Given the description of an element on the screen output the (x, y) to click on. 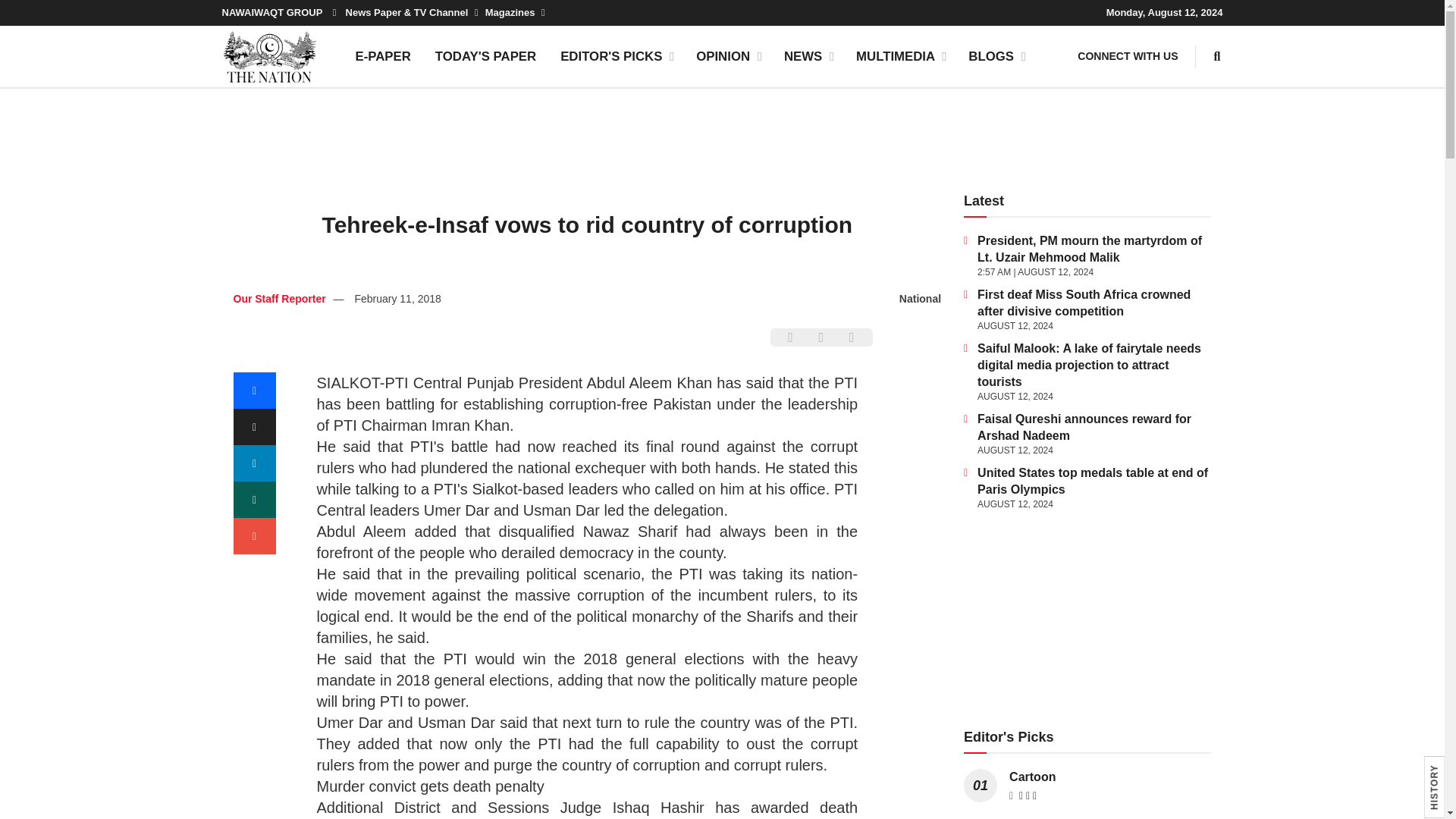
NEWS (807, 55)
E-PAPER (382, 55)
EDITOR'S PICKS (616, 55)
BLOGS (995, 55)
Magazines (513, 12)
TODAY'S PAPER (485, 55)
OPINION (727, 55)
MULTIMEDIA (900, 55)
